Given the description of an element on the screen output the (x, y) to click on. 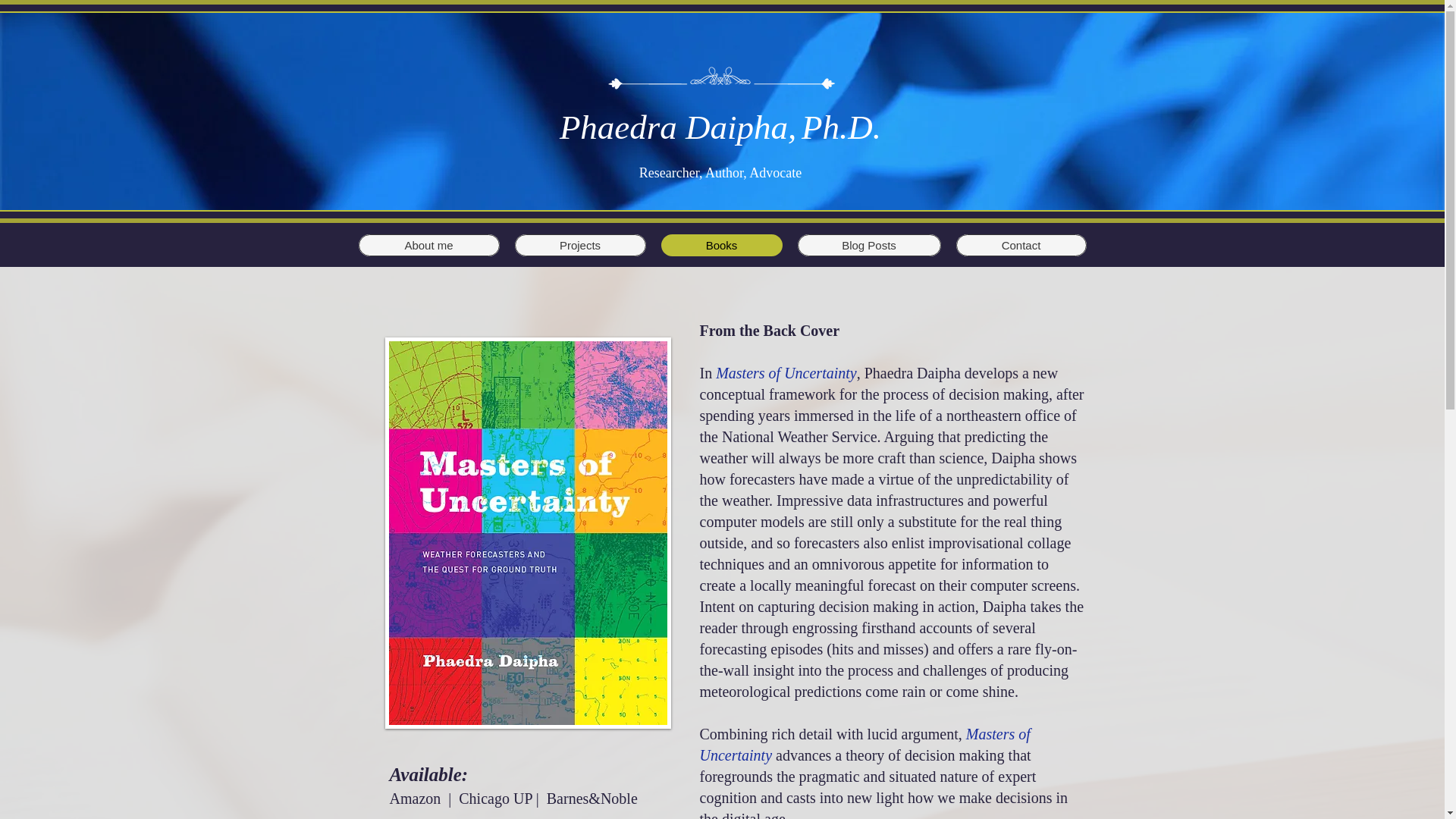
Masters of Uncertainty (863, 744)
Researcher, Author, Advocate (720, 172)
Masters of Uncertainty (786, 372)
Blog Posts (868, 245)
Phaedra Daipha, Ph.D. (719, 127)
daipha-cover.jpg (528, 532)
Amazon (415, 798)
Books (722, 245)
Chicago UP (494, 798)
Contact (1020, 245)
About me (428, 245)
